Given the description of an element on the screen output the (x, y) to click on. 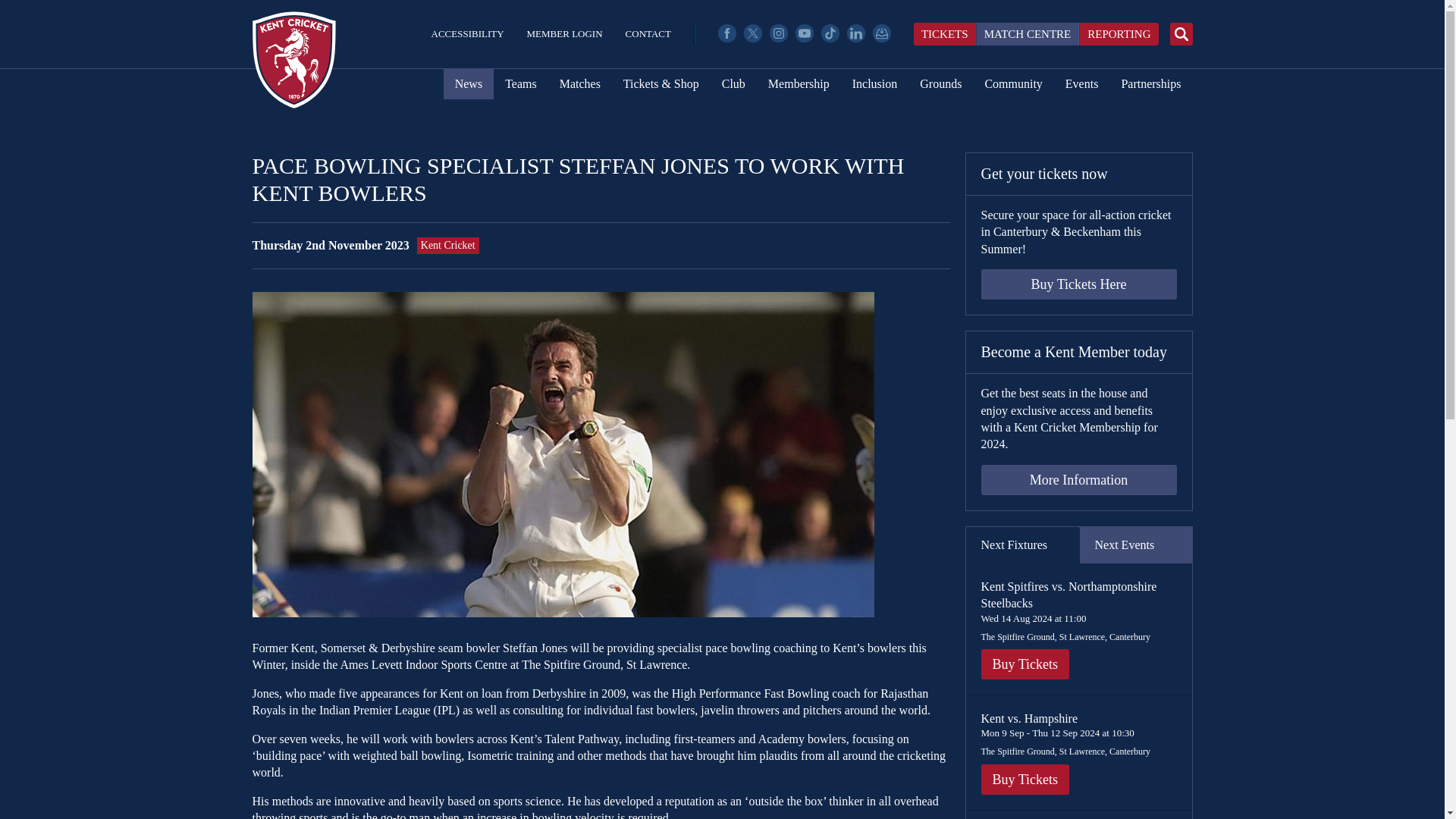
REPORTING (1117, 33)
Twitter (752, 33)
MATCH CENTRE (1027, 33)
TikTok (830, 33)
MEMBER LOGIN (564, 33)
Facebook (726, 33)
Matches (579, 83)
Teams (520, 83)
ACCESSIBILITY (466, 33)
LinkedIn (855, 33)
